Given the description of an element on the screen output the (x, y) to click on. 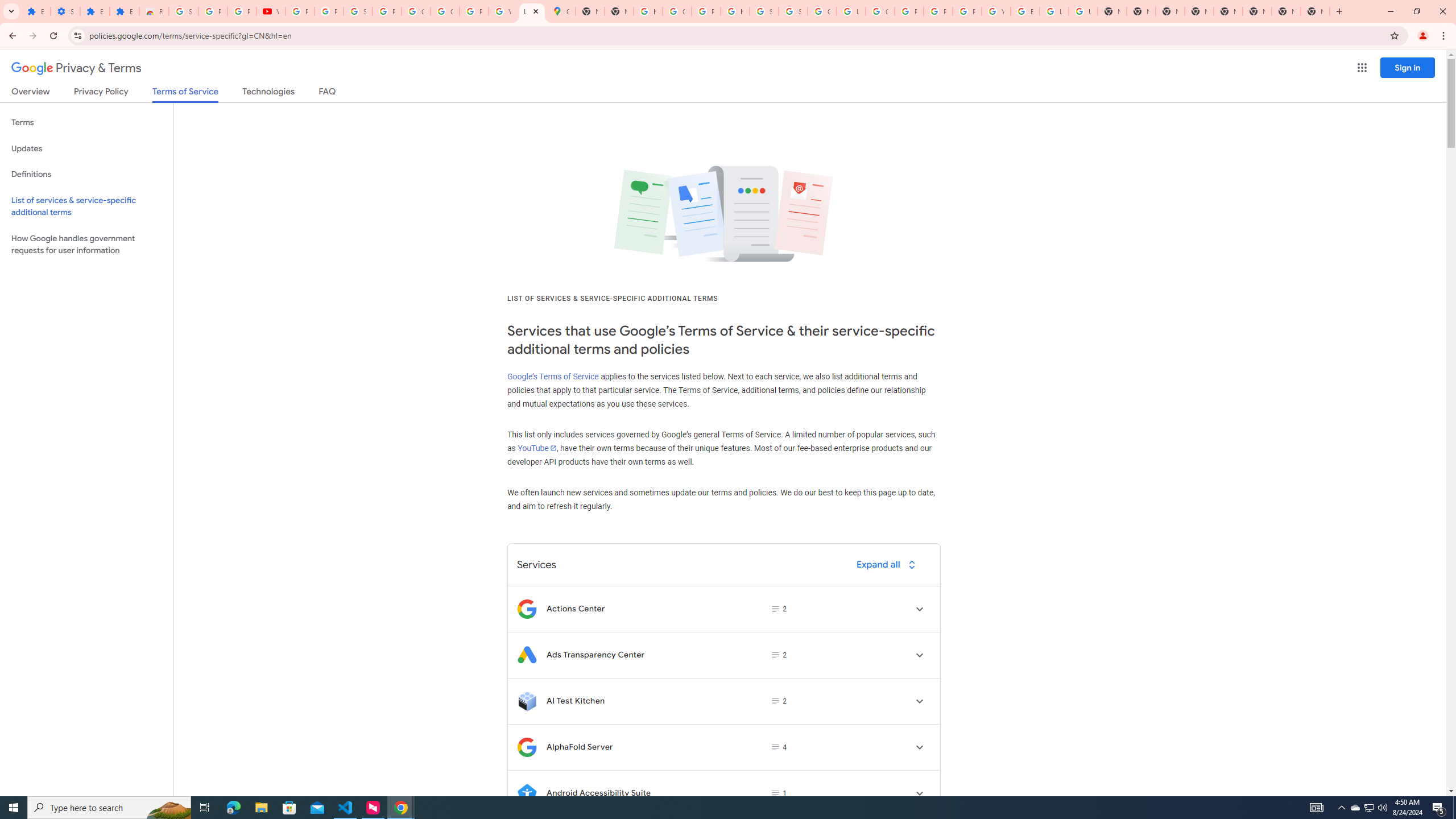
Logo for AI Test Kitchen (526, 700)
YouTube (996, 11)
YouTube (271, 11)
How Google handles government requests for user information (86, 244)
https://scholar.google.com/ (648, 11)
https://scholar.google.com/ (734, 11)
New Tab (1256, 11)
